Given the description of an element on the screen output the (x, y) to click on. 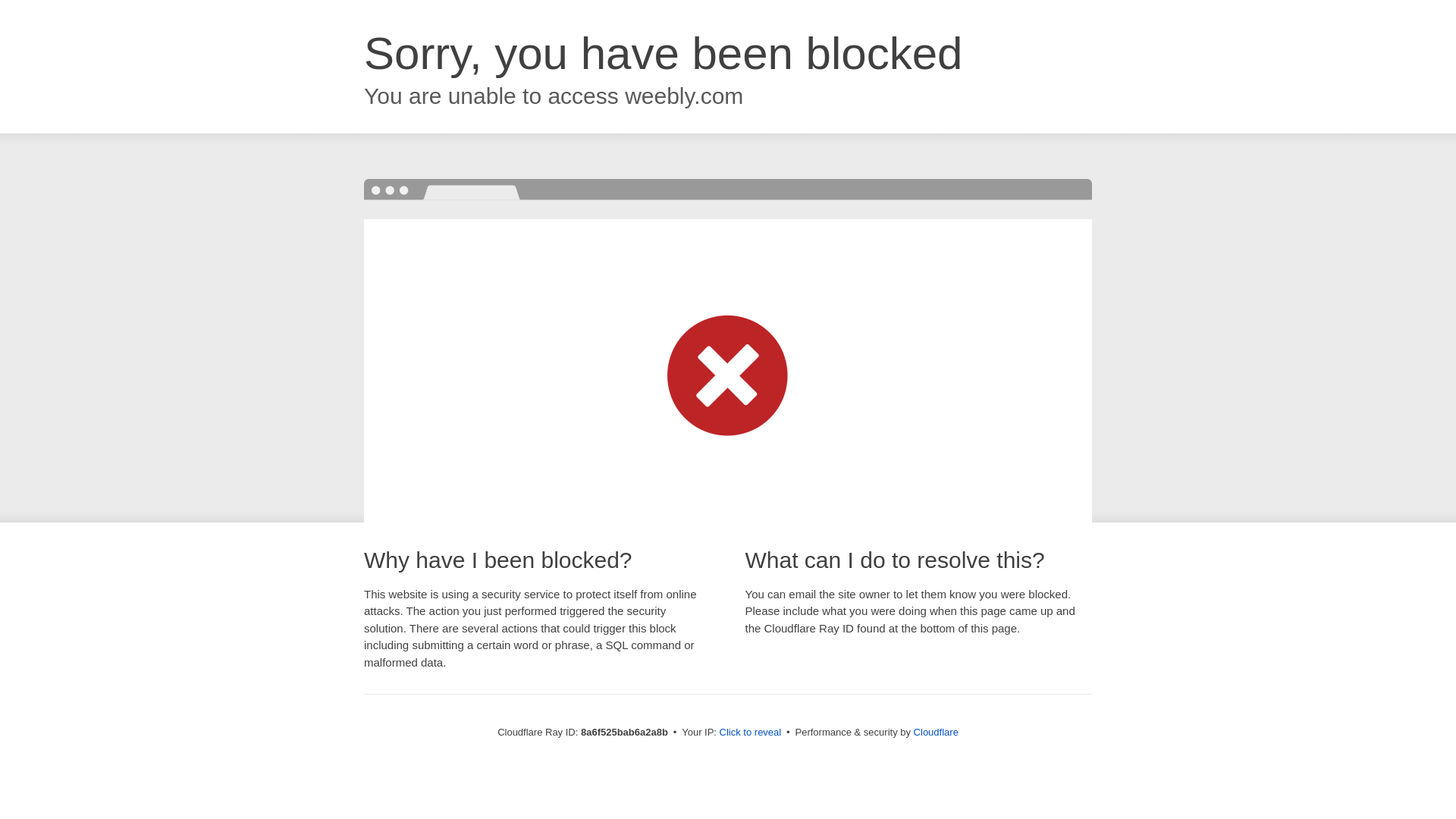
Click to reveal (750, 732)
Cloudflare (936, 731)
